Given the description of an element on the screen output the (x, y) to click on. 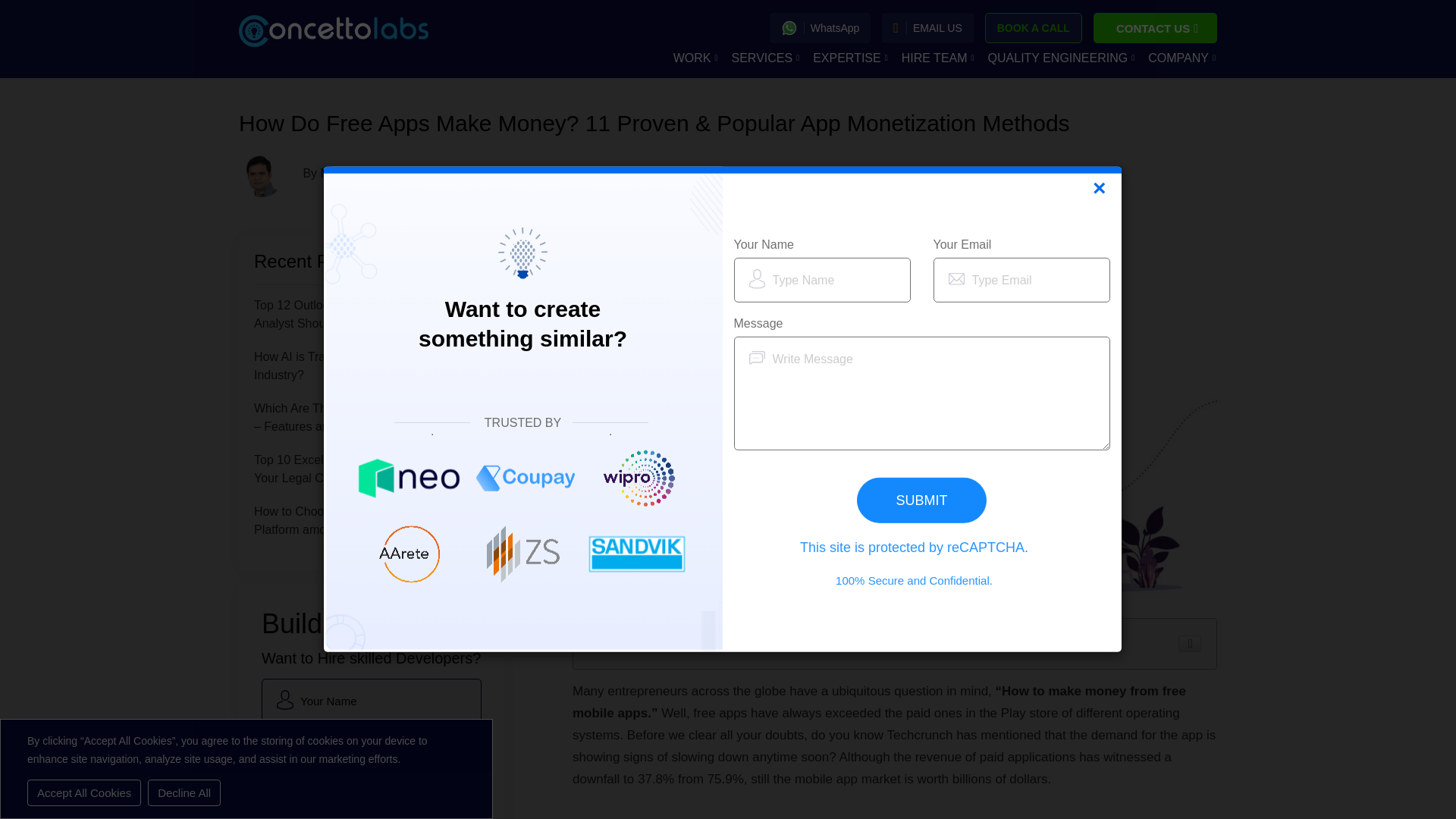
Concetto Labs (333, 30)
CONTACT US (1155, 28)
SERVICES (765, 60)
BOOK A CALL (1033, 28)
WORK (694, 60)
  EMAIL US (927, 28)
  WhatsApp (820, 28)
